Given the description of an element on the screen output the (x, y) to click on. 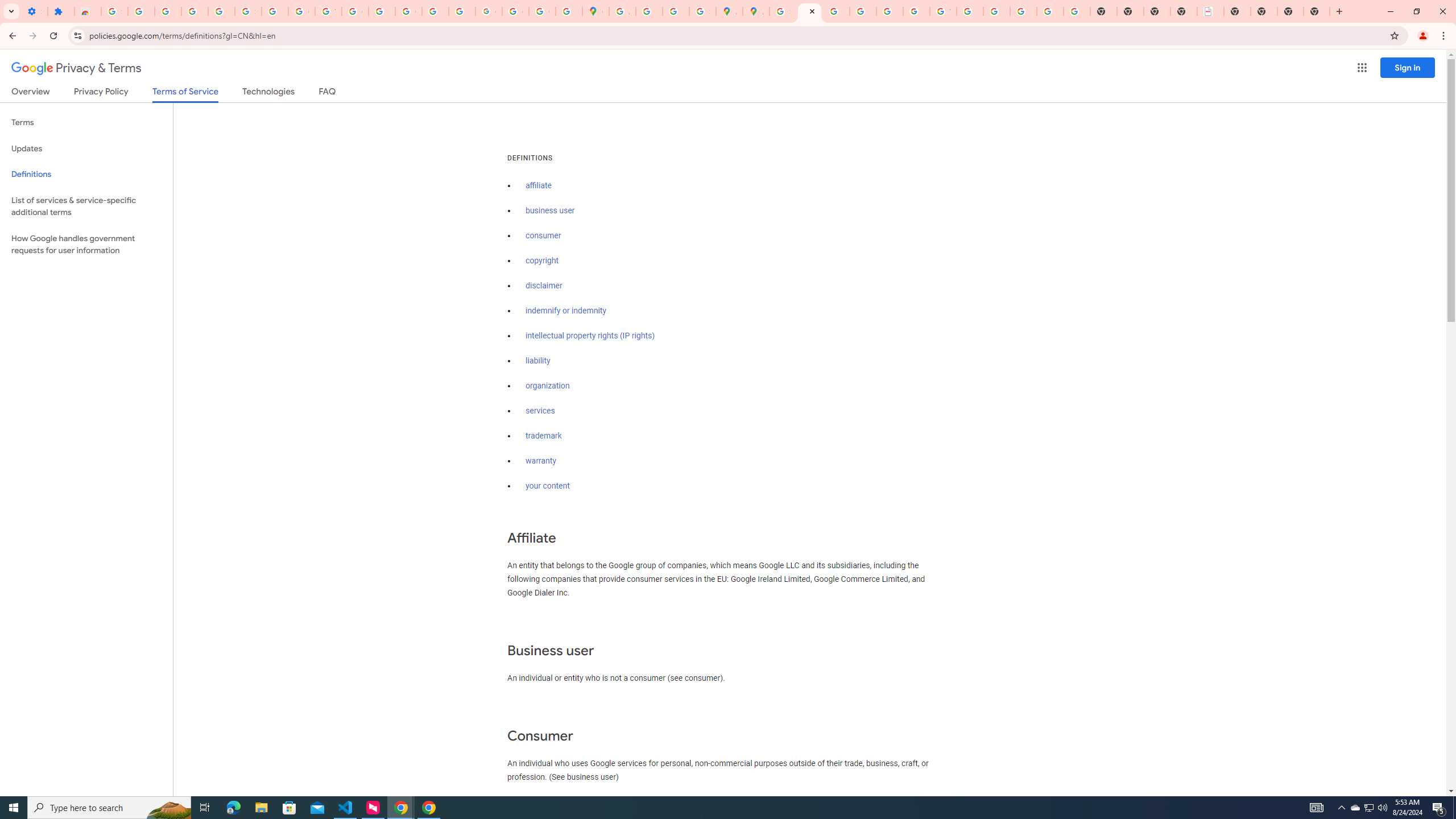
Google Maps (595, 11)
indemnify or indemnity (565, 311)
organization (547, 385)
liability (537, 361)
copyright (542, 260)
Settings - On startup (34, 11)
intellectual property rights (IP rights) (590, 335)
https://scholar.google.com/ (382, 11)
